Given the description of an element on the screen output the (x, y) to click on. 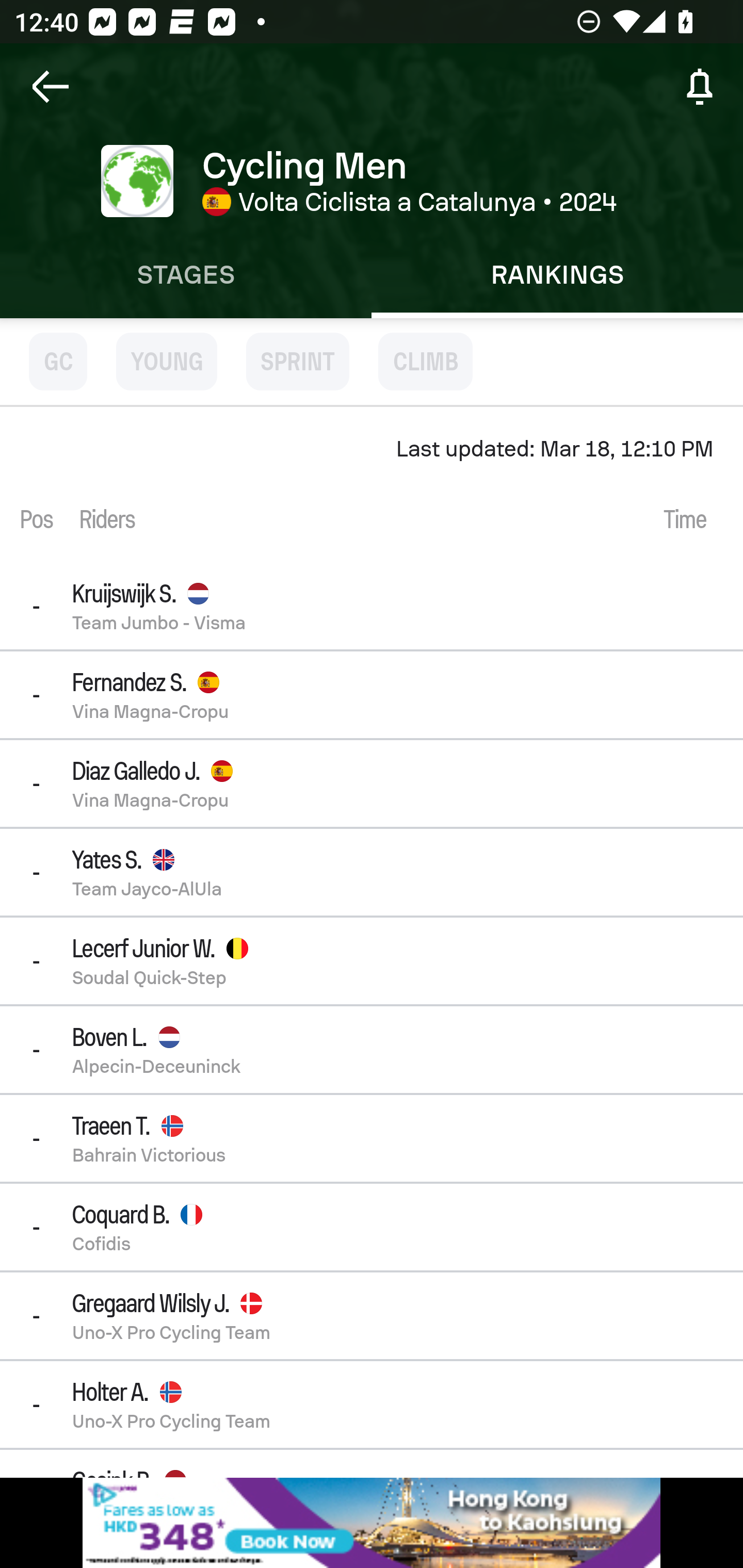
Navigate up (50, 86)
Stages STAGES (185, 275)
Last updated: Mar 18, 12:10 PM Pos Riders Time (371, 484)
- Kruijswijk S. Team Jumbo - Visma (371, 605)
- Fernandez S. Vina Magna-Cropu (371, 694)
- Diaz Galledo J. Vina Magna-Cropu (371, 783)
- Yates S. Team Jayco-AlUla (371, 872)
- Lecerf Junior W. Soudal Quick-Step (371, 960)
- Boven L. Alpecin-Deceuninck (371, 1049)
- Traeen T. Bahrain Victorious (371, 1138)
- Coquard B. Cofidis (371, 1226)
- Gregaard Wilsly J. Uno-X Pro Cycling Team (371, 1316)
- Holter A. Uno-X Pro Cycling Team (371, 1404)
ijqm75ea_320x50 (371, 1522)
